Given the description of an element on the screen output the (x, y) to click on. 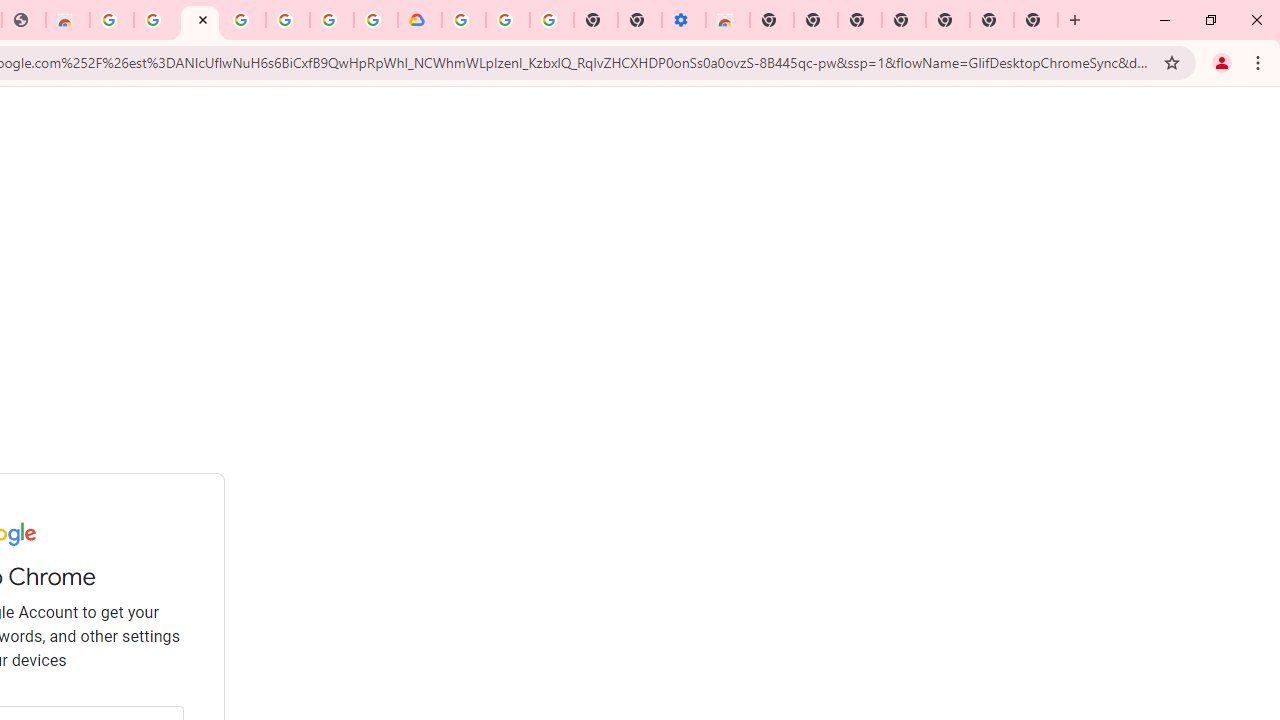
Chrome Web Store - Accessibility extensions (728, 20)
New Tab (771, 20)
Sign in - Google Accounts (199, 20)
New Tab (1035, 20)
Turn cookies on or off - Computer - Google Account Help (551, 20)
Settings - Accessibility (683, 20)
Google Account Help (507, 20)
